Given the description of an element on the screen output the (x, y) to click on. 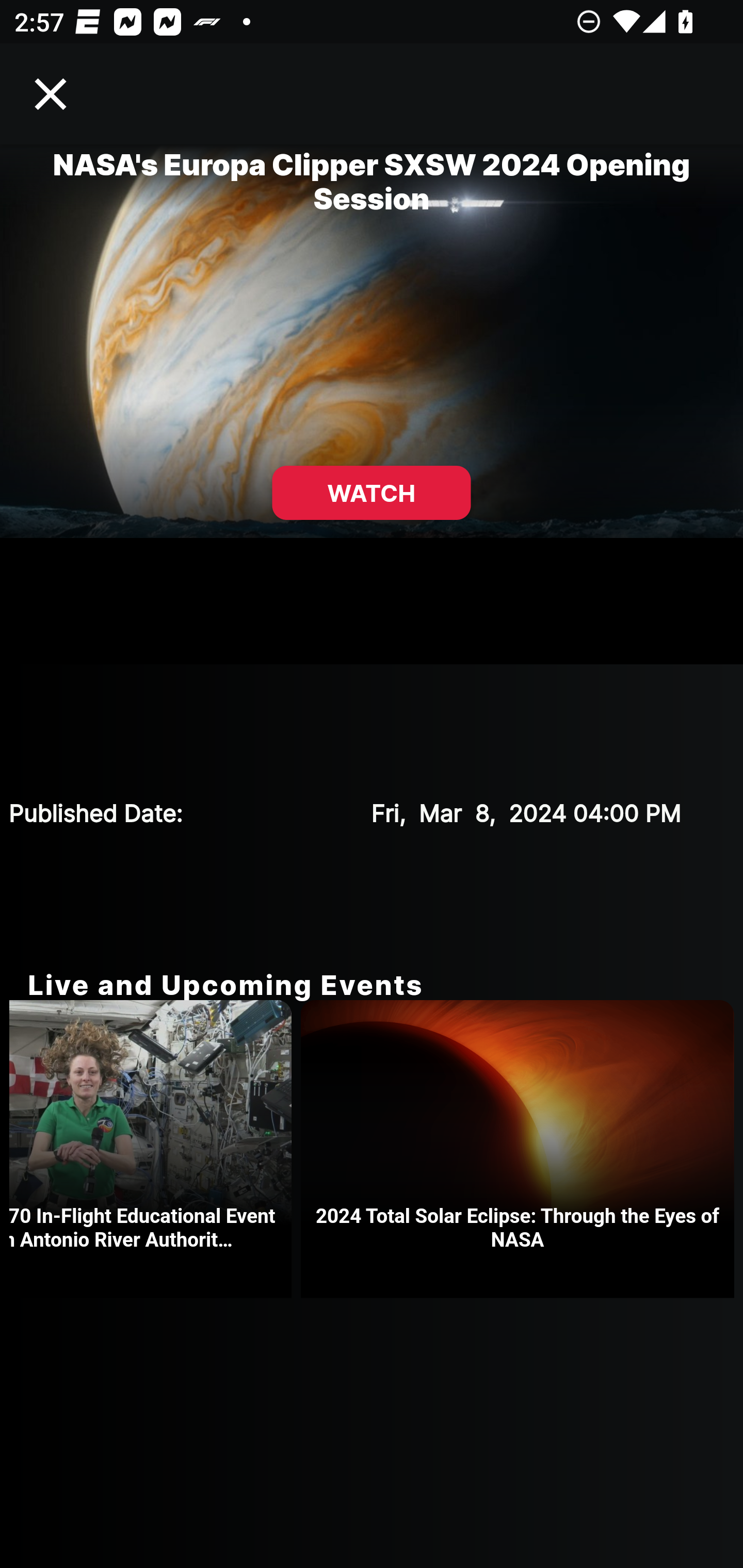
WATCH (371, 492)
2024 Total Solar Eclipse: Through the Eyes of NASA (521, 1149)
